Given the description of an element on the screen output the (x, y) to click on. 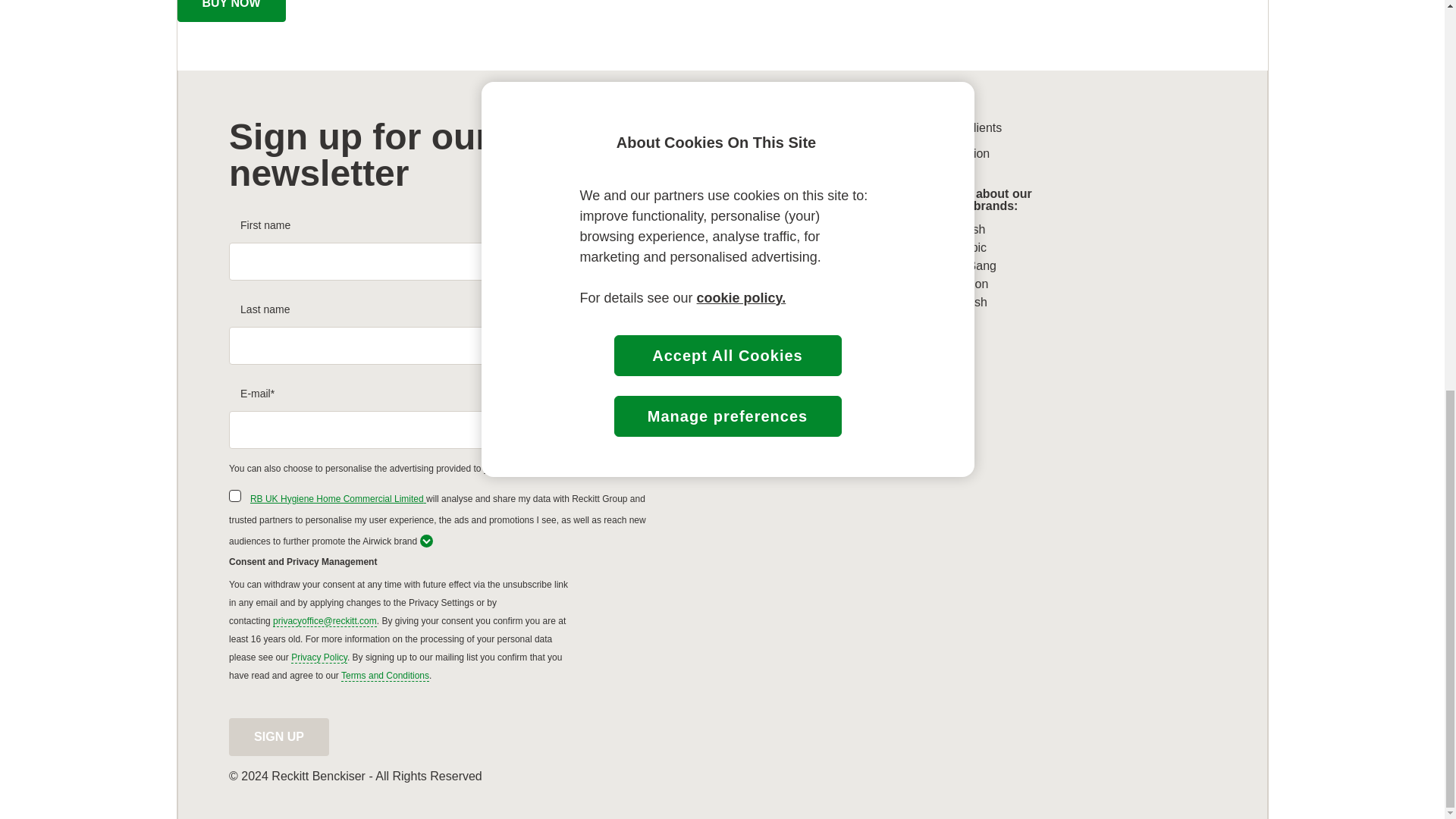
true (234, 495)
